Given the description of an element on the screen output the (x, y) to click on. 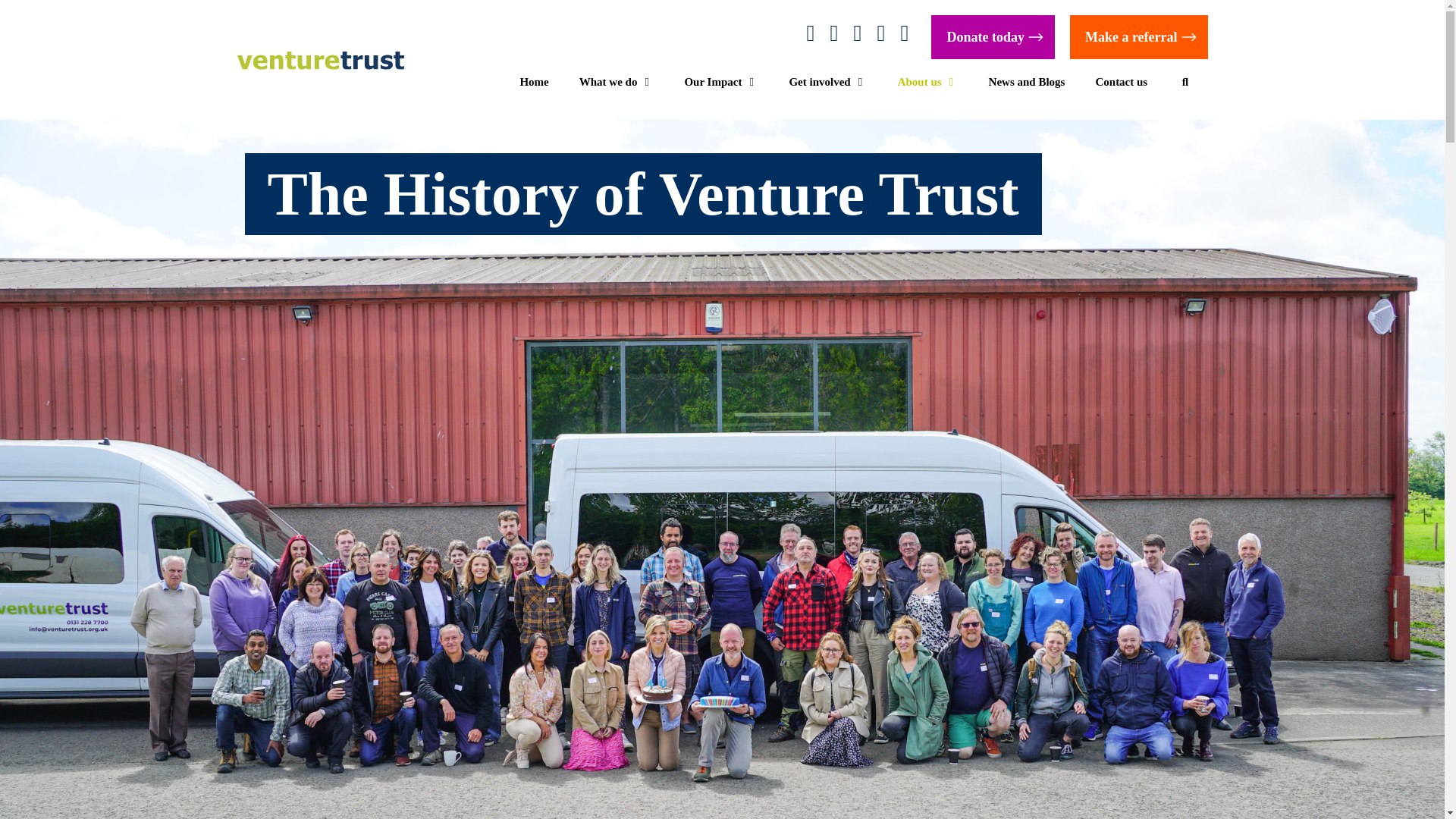
What we do (616, 81)
Home (533, 81)
Donate today (992, 36)
Our Impact (720, 81)
Make a referral (1139, 36)
About us (928, 81)
Get involved (827, 81)
